Given the description of an element on the screen output the (x, y) to click on. 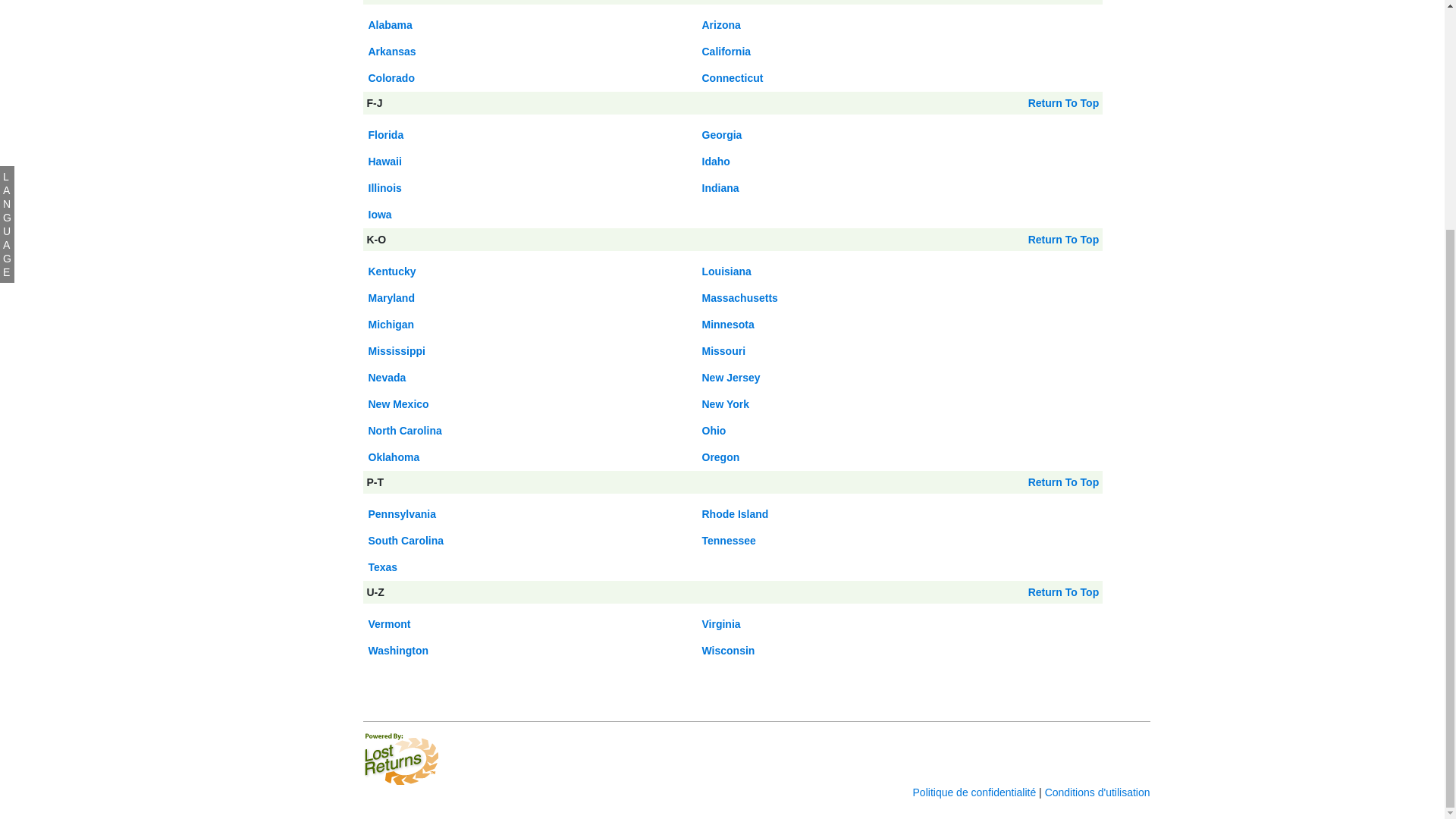
Maryland (391, 297)
Hawaii (384, 161)
New Mexico (398, 404)
Minnesota (727, 324)
Oklahoma (394, 457)
Connecticut (731, 78)
North Carolina (405, 430)
New York (725, 404)
Colorado (391, 78)
Iowa (379, 214)
Idaho (715, 161)
Kentucky (392, 271)
Ohio (713, 430)
Indiana (720, 187)
Illinois (384, 187)
